Given the description of an element on the screen output the (x, y) to click on. 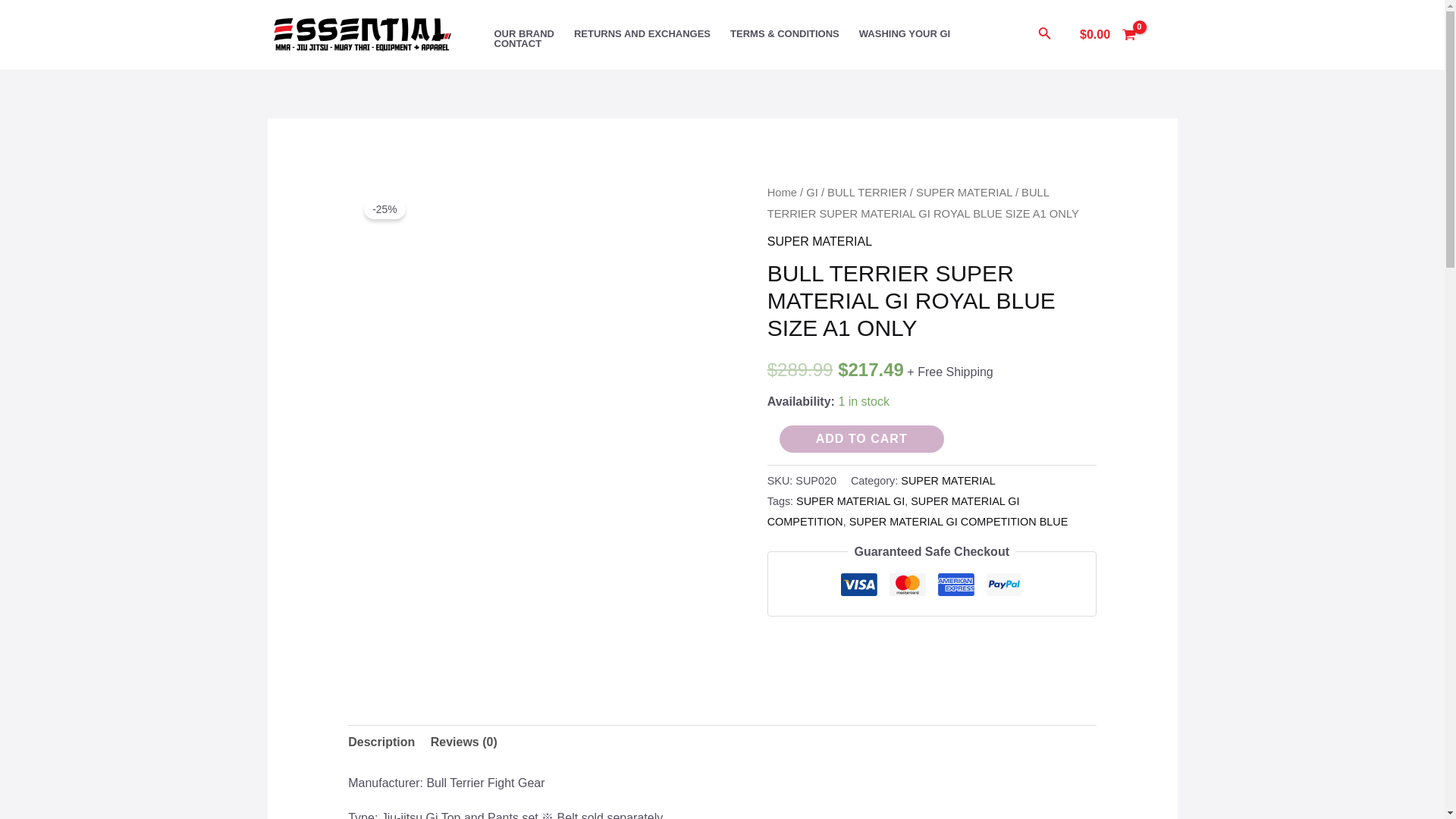
SUPER MATERIAL GI COMPETITION BLUE (958, 521)
OUR BRAND (523, 33)
RETURNS AND EXCHANGES (642, 33)
SUPER MATERIAL (963, 192)
CONTACT (517, 42)
Description (380, 742)
SUPER MATERIAL (947, 480)
GI (812, 192)
SUPER MATERIAL (819, 241)
ADD TO CART (860, 438)
Home (781, 192)
SUPER MATERIAL GI COMPETITION (893, 511)
WASHING YOUR GI (903, 33)
BULL TERRIER (867, 192)
SUPER MATERIAL GI (850, 500)
